Given the description of an element on the screen output the (x, y) to click on. 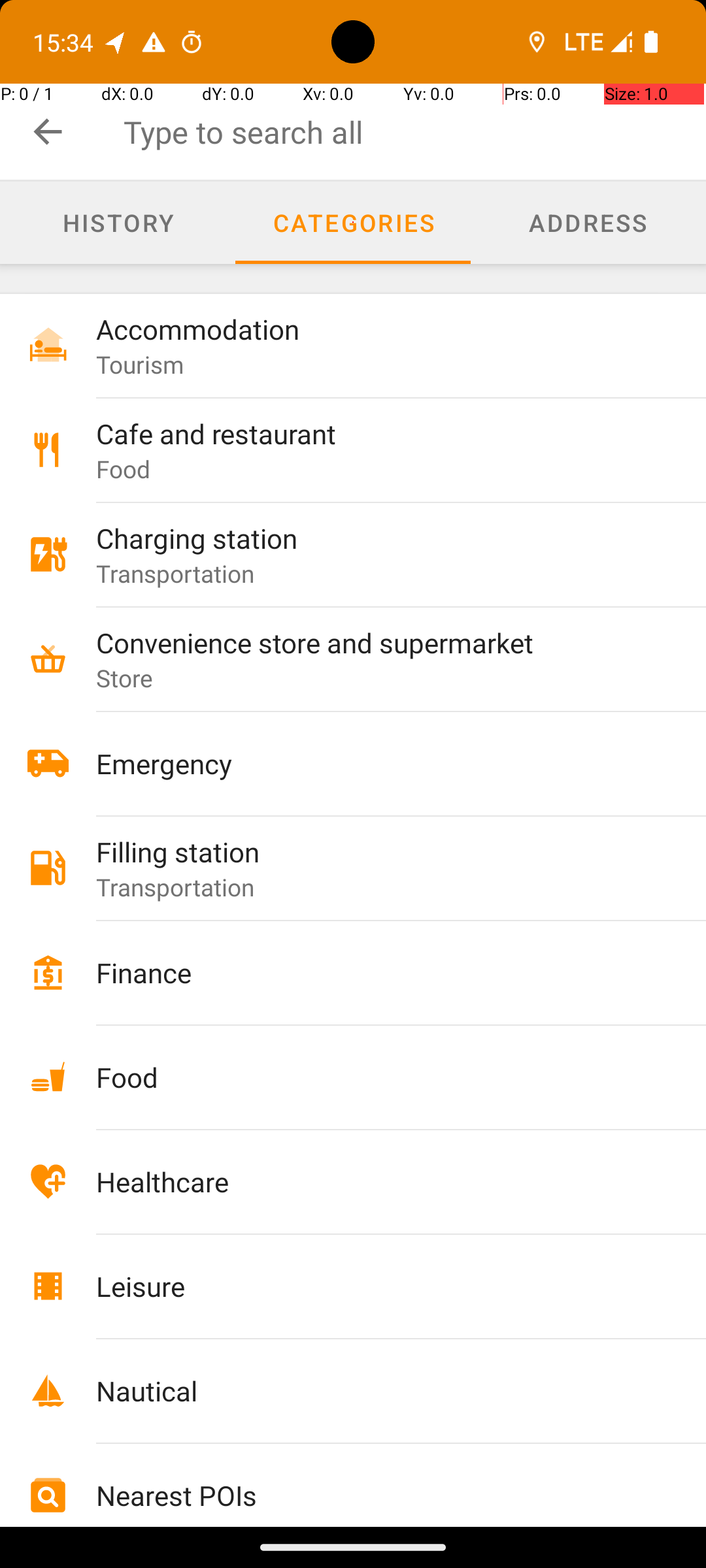
Type to search all Element type: android.widget.EditText (414, 131)
History Element type: android.widget.LinearLayout (117, 222)
Categories Element type: android.widget.LinearLayout (352, 222)
Address Element type: android.widget.LinearLayout (588, 222)
HISTORY Element type: android.widget.TextView (117, 222)
CATEGORIES Element type: android.widget.TextView (352, 222)
ADDRESS Element type: android.widget.TextView (587, 222)
Accommodation Element type: android.widget.TextView (373, 328)
Tourism Element type: android.widget.TextView (140, 363)
Cafe and restaurant Element type: android.widget.TextView (373, 433)
Charging station Element type: android.widget.TextView (373, 537)
Transportation Element type: android.widget.TextView (175, 572)
Convenience store and supermarket Element type: android.widget.TextView (373, 642)
Store Element type: android.widget.TextView (124, 677)
Emergency Element type: android.widget.TextView (373, 763)
Filling station Element type: android.widget.TextView (373, 851)
Healthcare Element type: android.widget.TextView (373, 1181)
Leisure Element type: android.widget.TextView (373, 1285)
Nautical Element type: android.widget.TextView (373, 1390)
Nearest POIs Element type: android.widget.TextView (373, 1494)
OpenTracks notification: Distance: 8.20 mi Element type: android.widget.ImageView (115, 41)
